Given the description of an element on the screen output the (x, y) to click on. 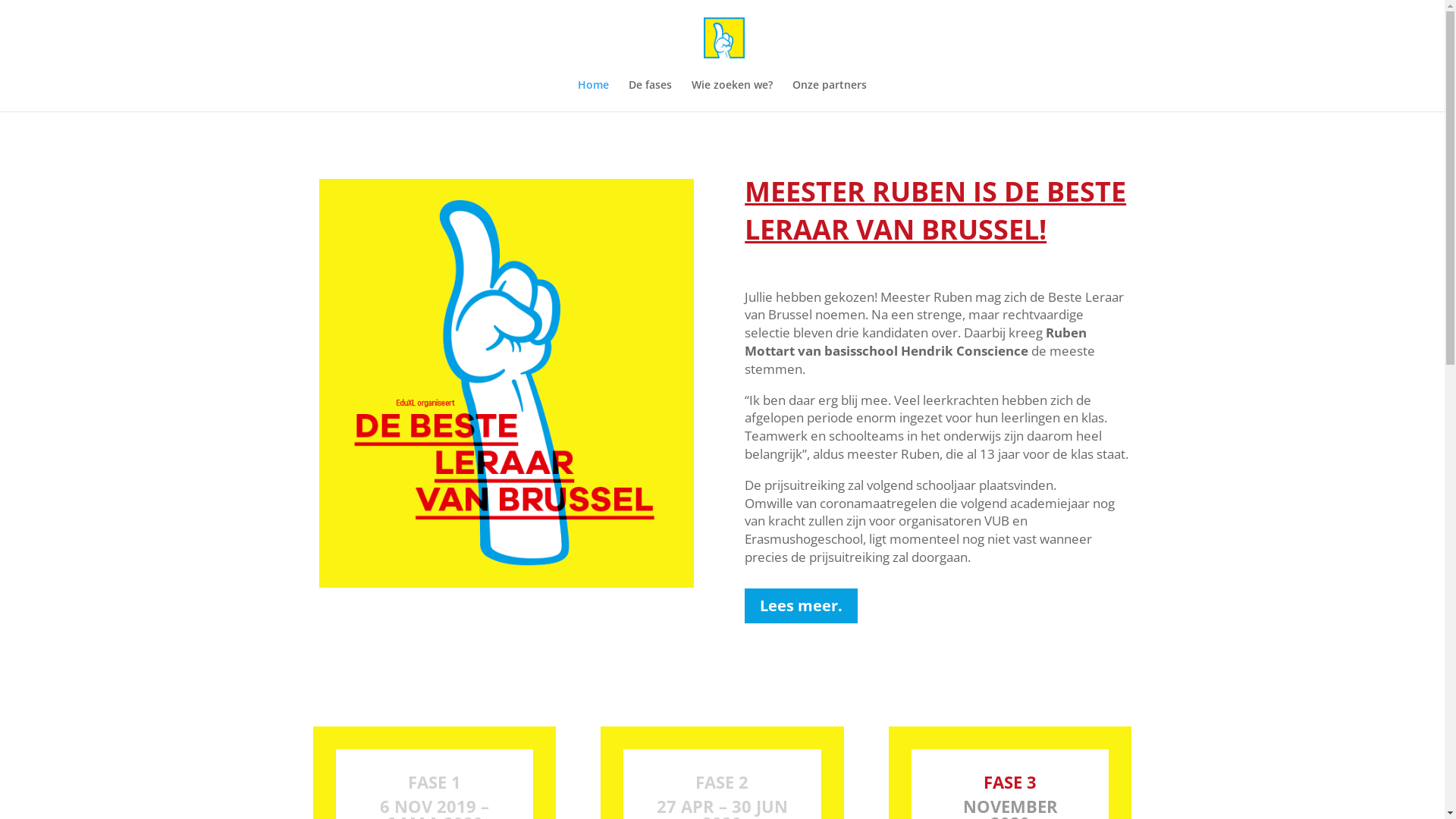
Wie zoeken we? Element type: text (731, 95)
De fases Element type: text (649, 95)
Home Element type: text (592, 95)
Lees meer. Element type: text (800, 605)
Onze partners Element type: text (829, 95)
